Given the description of an element on the screen output the (x, y) to click on. 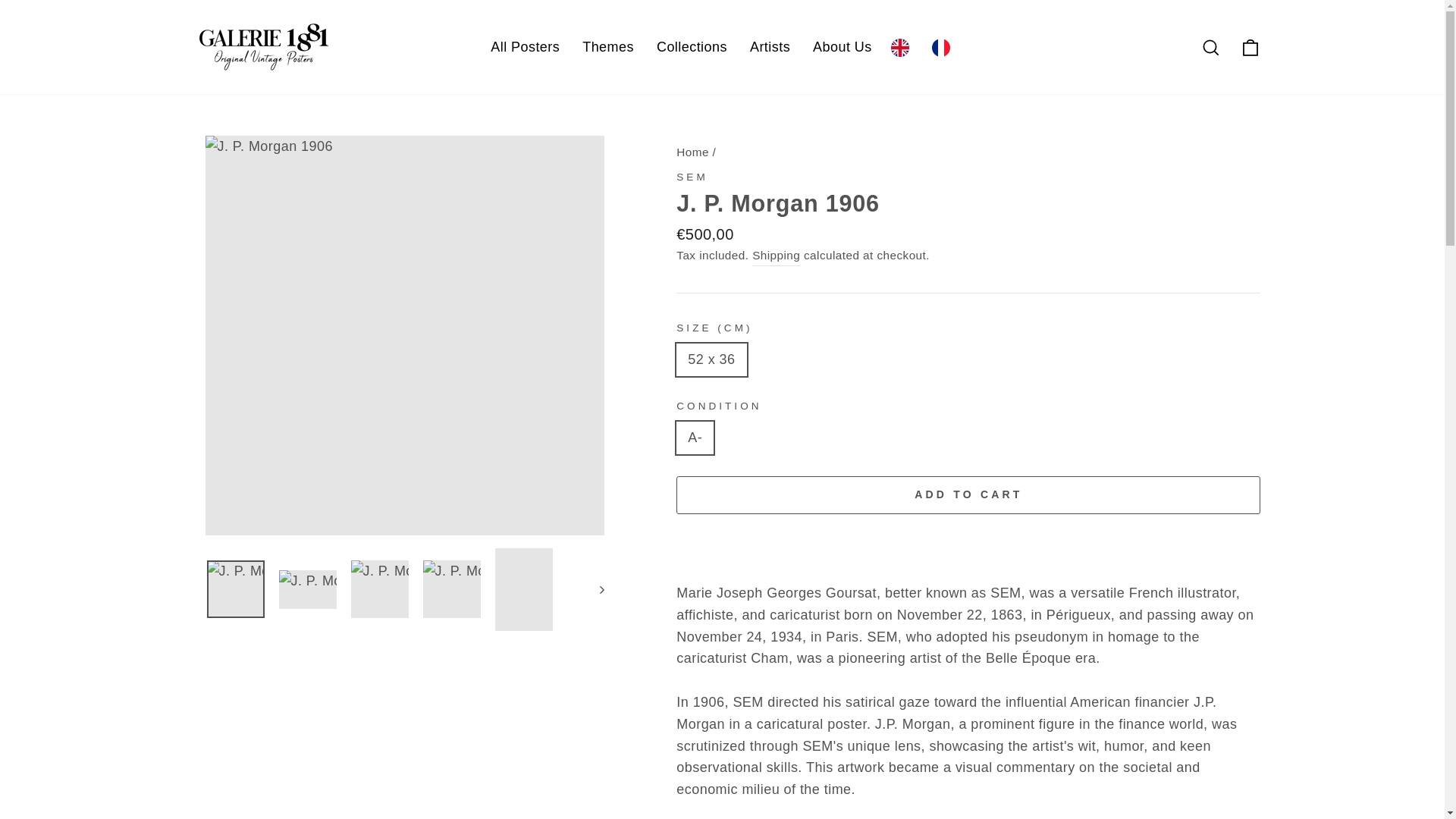
Back to the frontpage (693, 151)
Sem (692, 176)
